Given the description of an element on the screen output the (x, y) to click on. 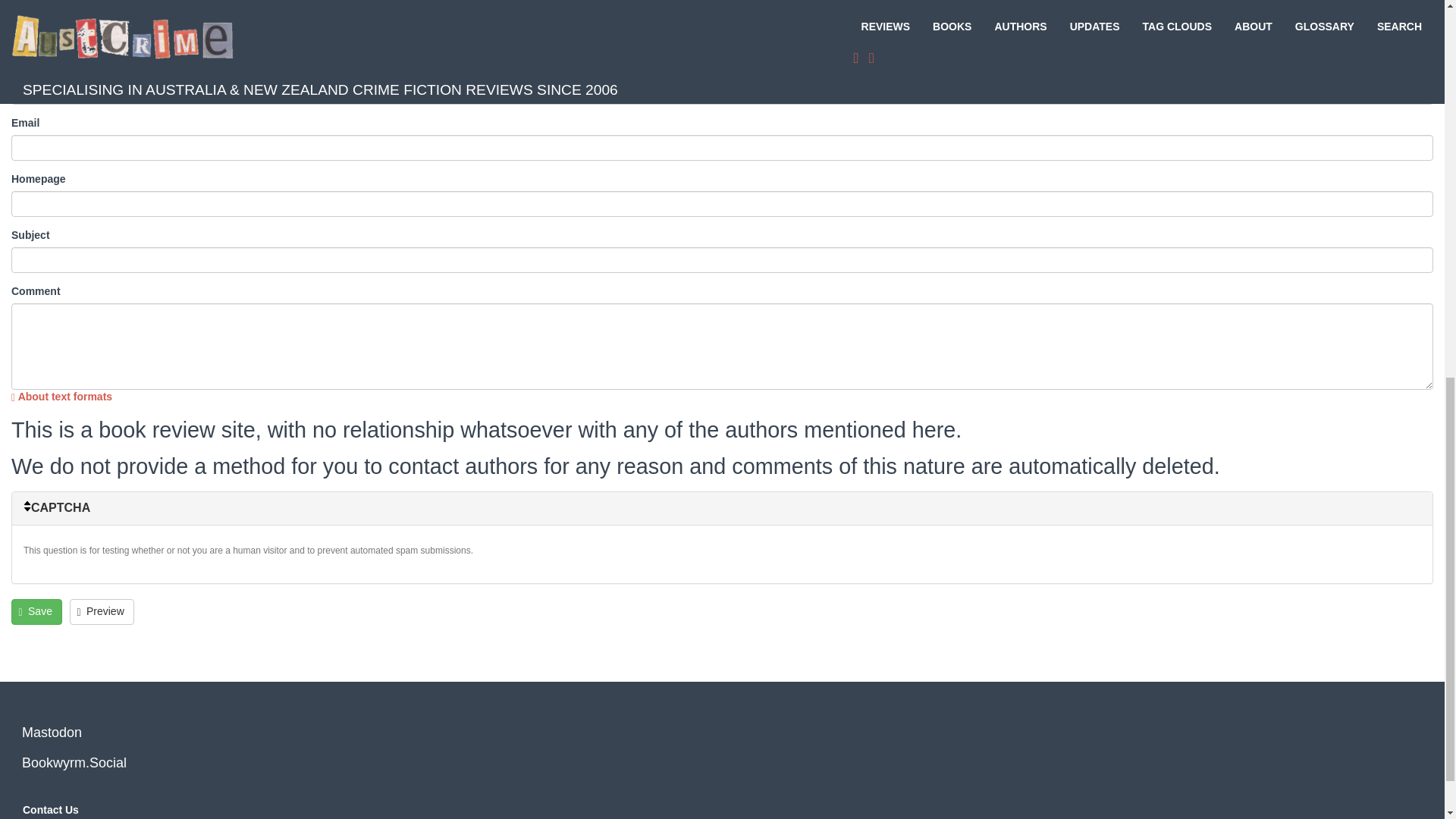
About text formats (61, 396)
Save (36, 611)
Mastodon (52, 732)
CAPTCHA (721, 508)
Opens in new window (61, 396)
Preview (101, 611)
